Given the description of an element on the screen output the (x, y) to click on. 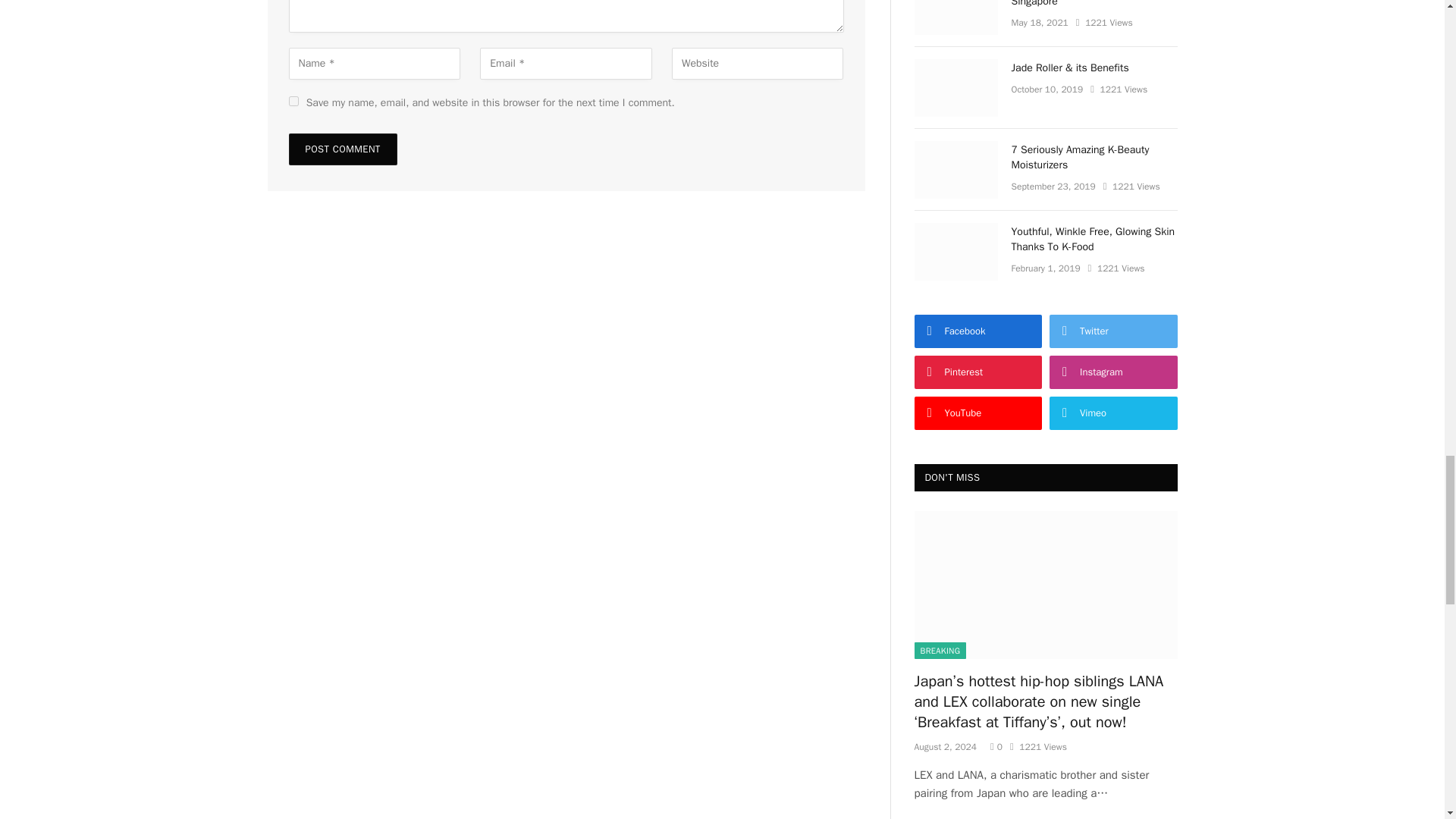
Post Comment (342, 149)
yes (293, 101)
